Given the description of an element on the screen output the (x, y) to click on. 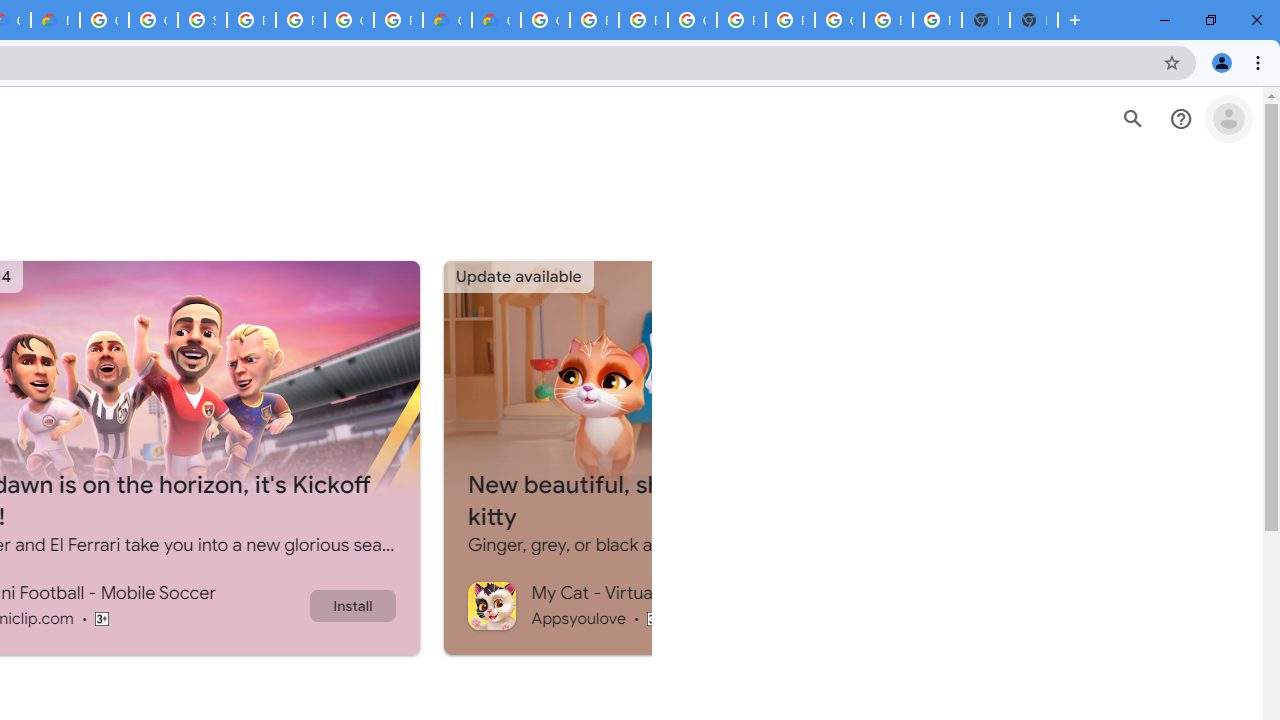
Google Cloud Platform (545, 20)
New Tab (1033, 20)
